Given the description of an element on the screen output the (x, y) to click on. 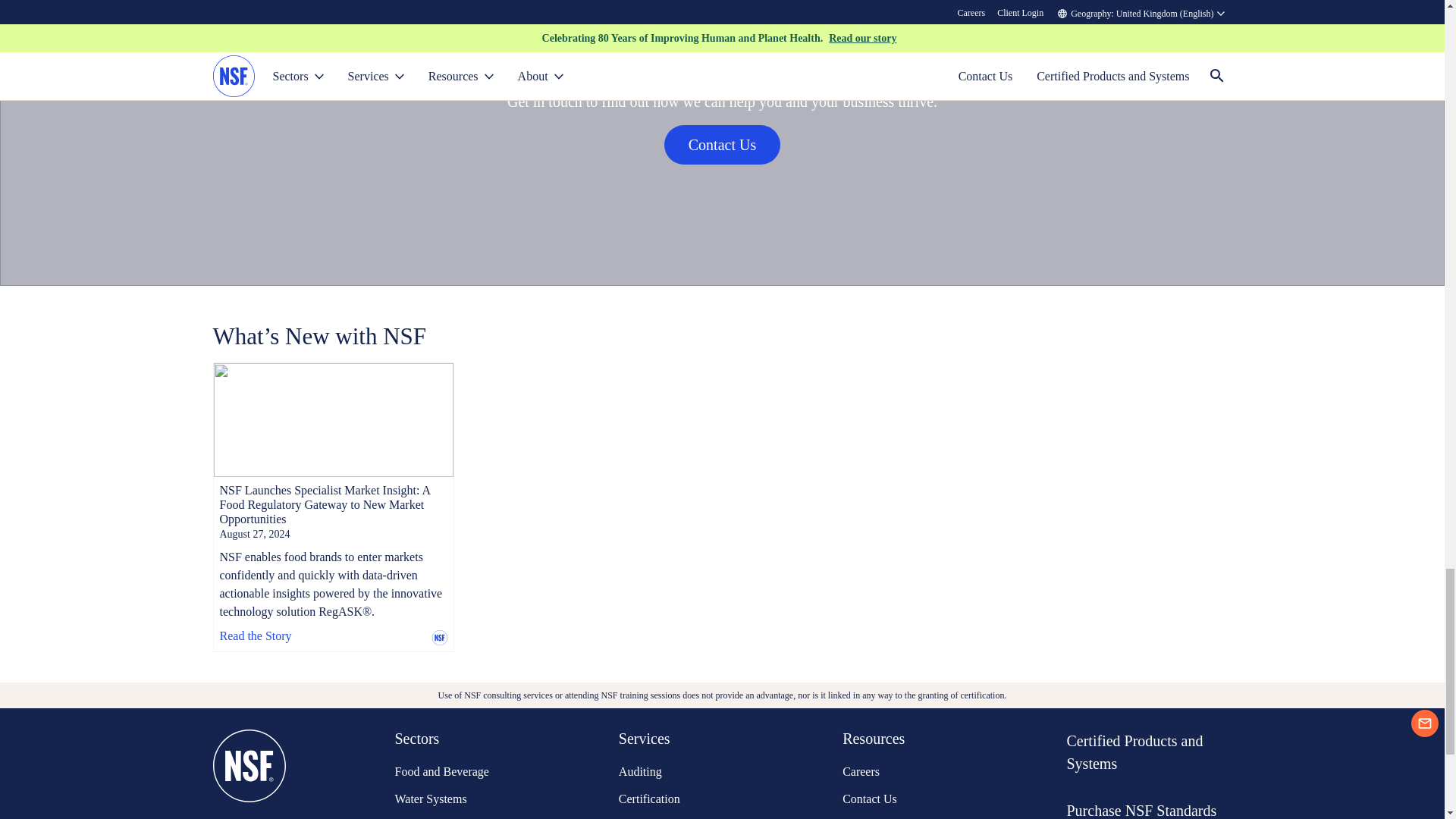
Life Sciences (451, 818)
Contact Us (721, 144)
Water Systems (451, 799)
Auditing (675, 771)
Food and Beverage (451, 771)
